Given the description of an element on the screen output the (x, y) to click on. 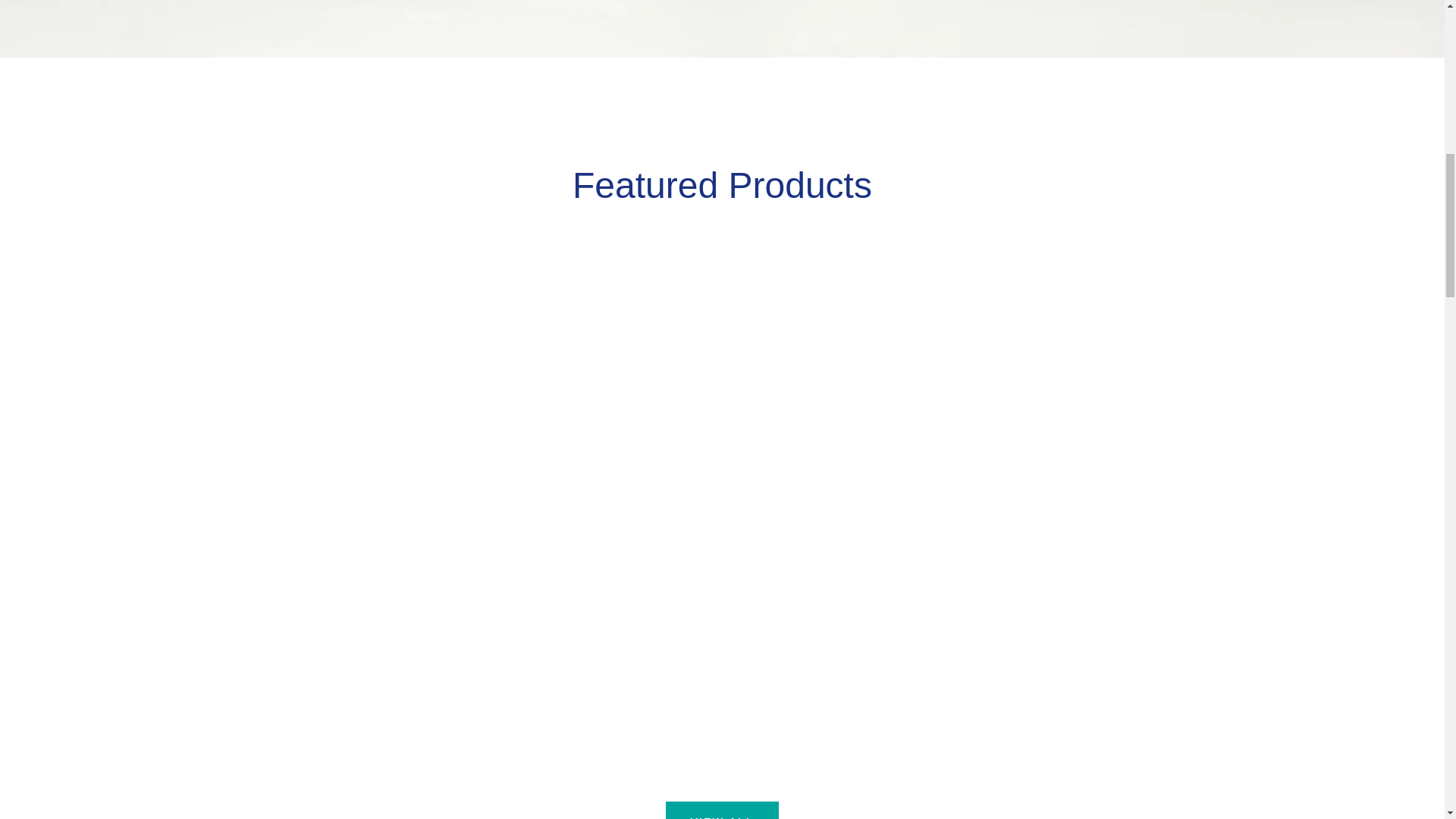
VIEW ALL (721, 810)
